Given the description of an element on the screen output the (x, y) to click on. 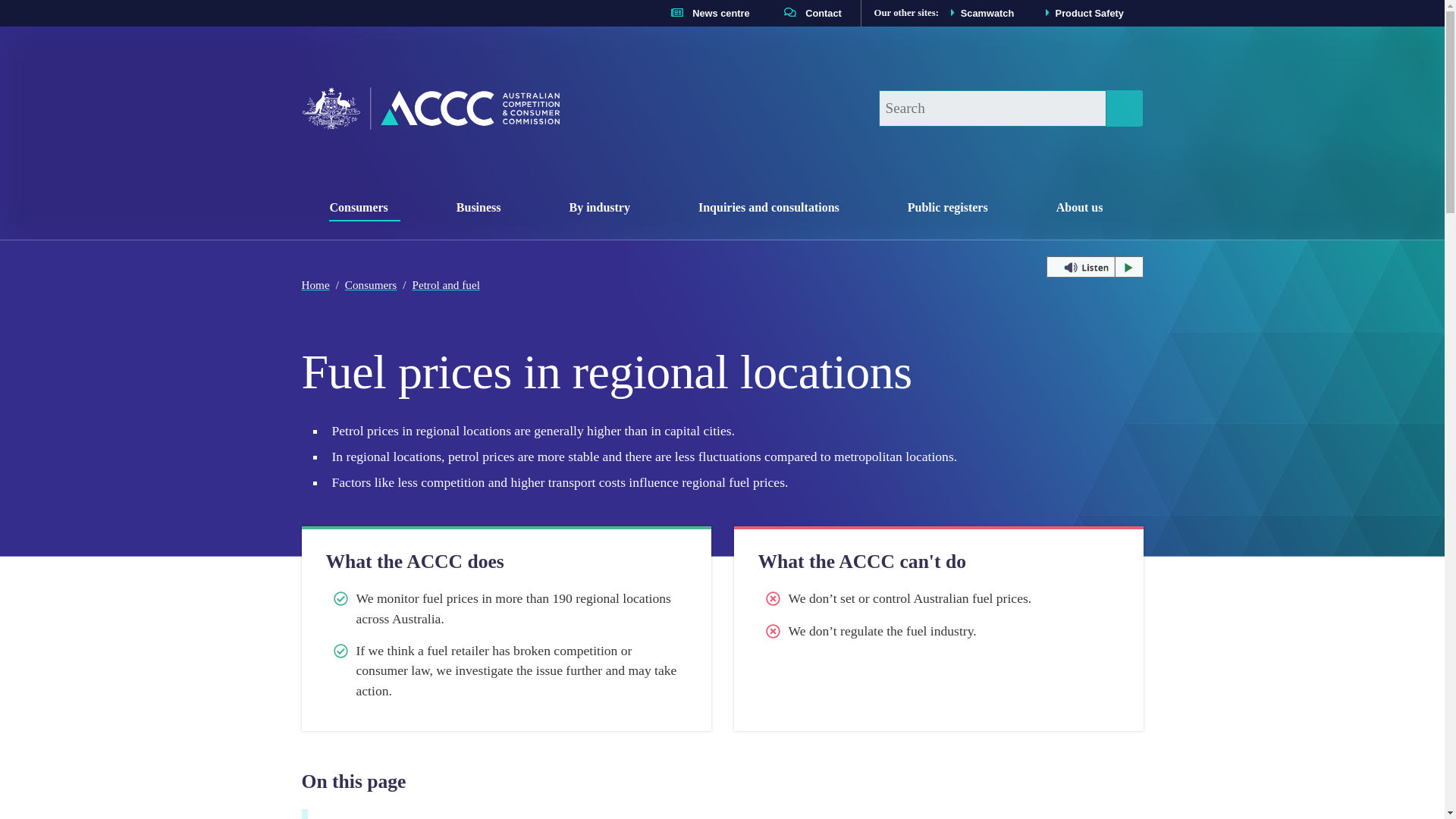
Scamwatch (484, 205)
ACCC home (978, 12)
Product Safety (605, 205)
News centre (430, 107)
Contact (1081, 12)
Listen to this page using ReadSpeaker (705, 12)
Search (807, 12)
